Given the description of an element on the screen output the (x, y) to click on. 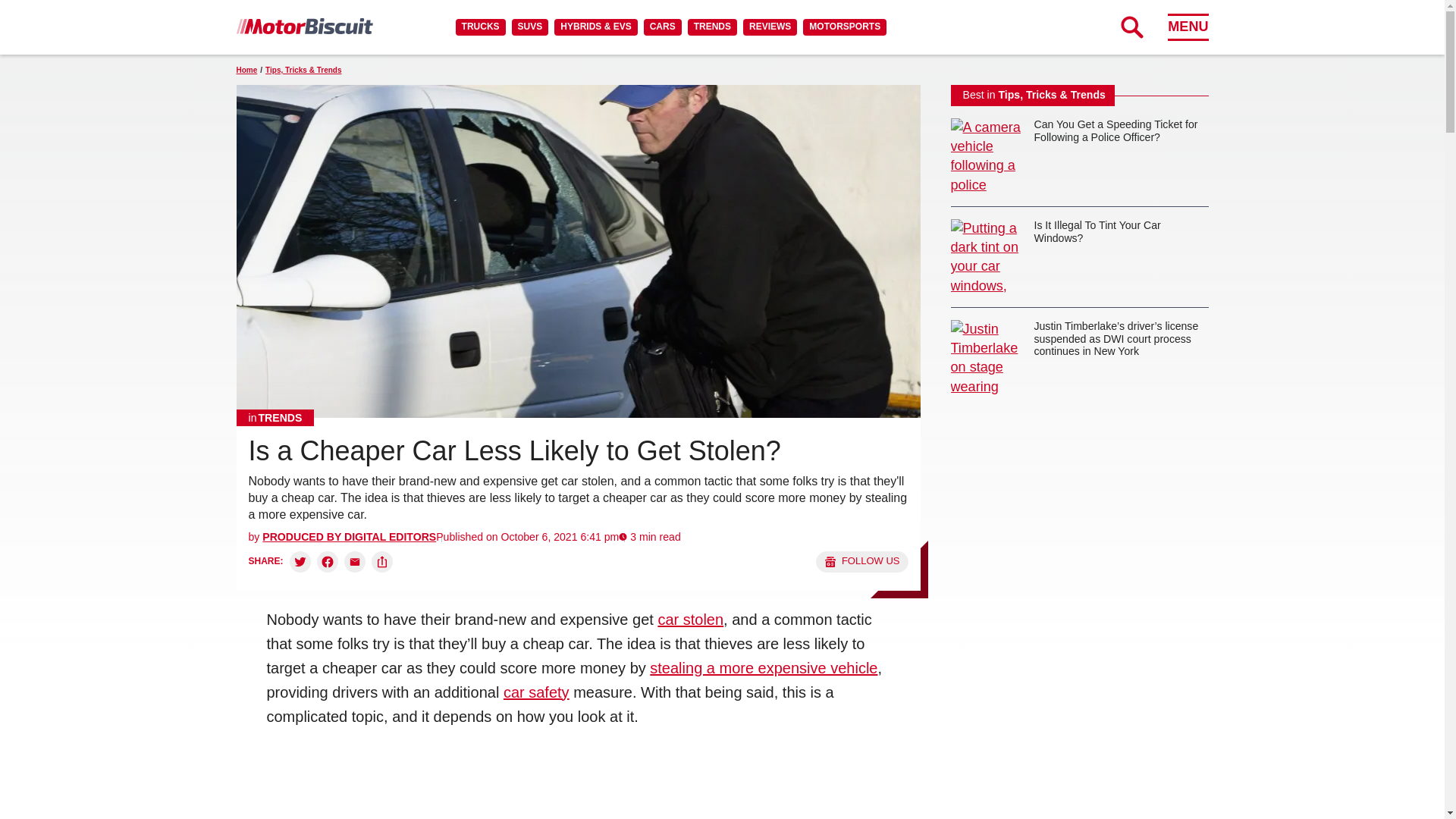
CARS (662, 26)
Trends (274, 417)
MotorBiscuit (303, 26)
Expand Search (1131, 26)
MOTORSPORTS (844, 26)
Follow us on Google News (861, 561)
MENU (1187, 26)
REVIEWS (769, 26)
SUVS (530, 26)
